Given the description of an element on the screen output the (x, y) to click on. 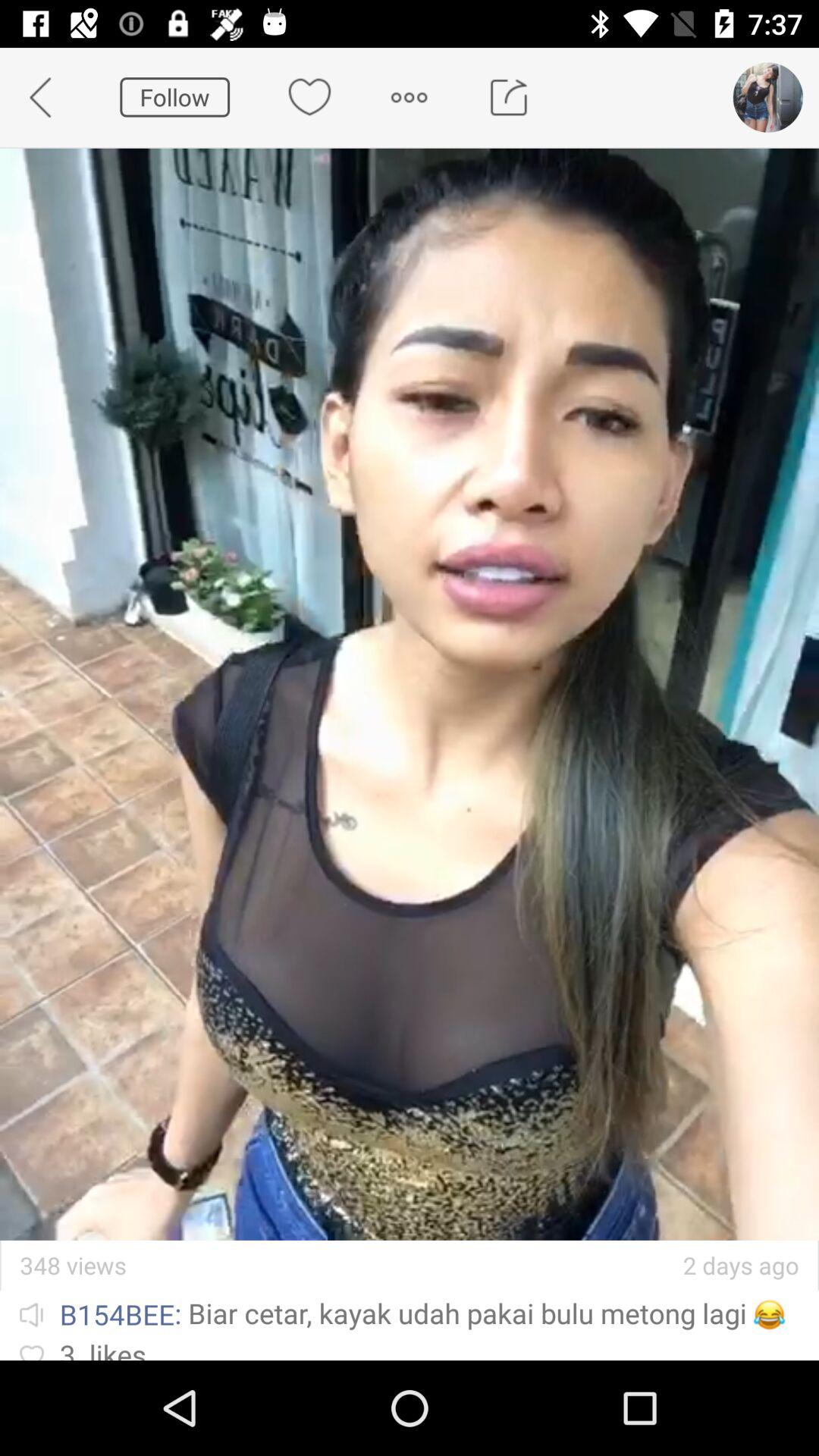
turn off app next to the follow icon (49, 97)
